Given the description of an element on the screen output the (x, y) to click on. 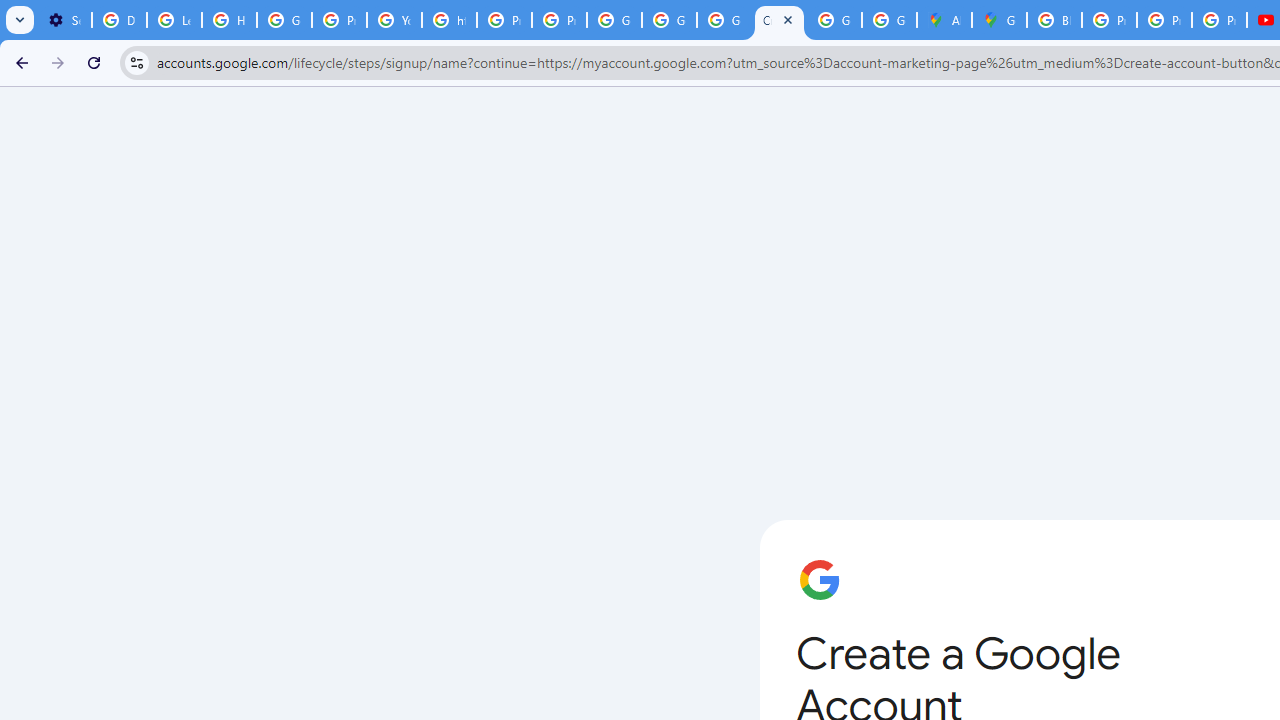
Privacy Help Center - Policies Help (1108, 20)
Privacy Help Center - Policies Help (339, 20)
Privacy Help Center - Policies Help (504, 20)
Settings - Customize profile (64, 20)
Create your Google Account (779, 20)
Blogger Policies and Guidelines - Transparency Center (1053, 20)
Google Maps (998, 20)
